Given the description of an element on the screen output the (x, y) to click on. 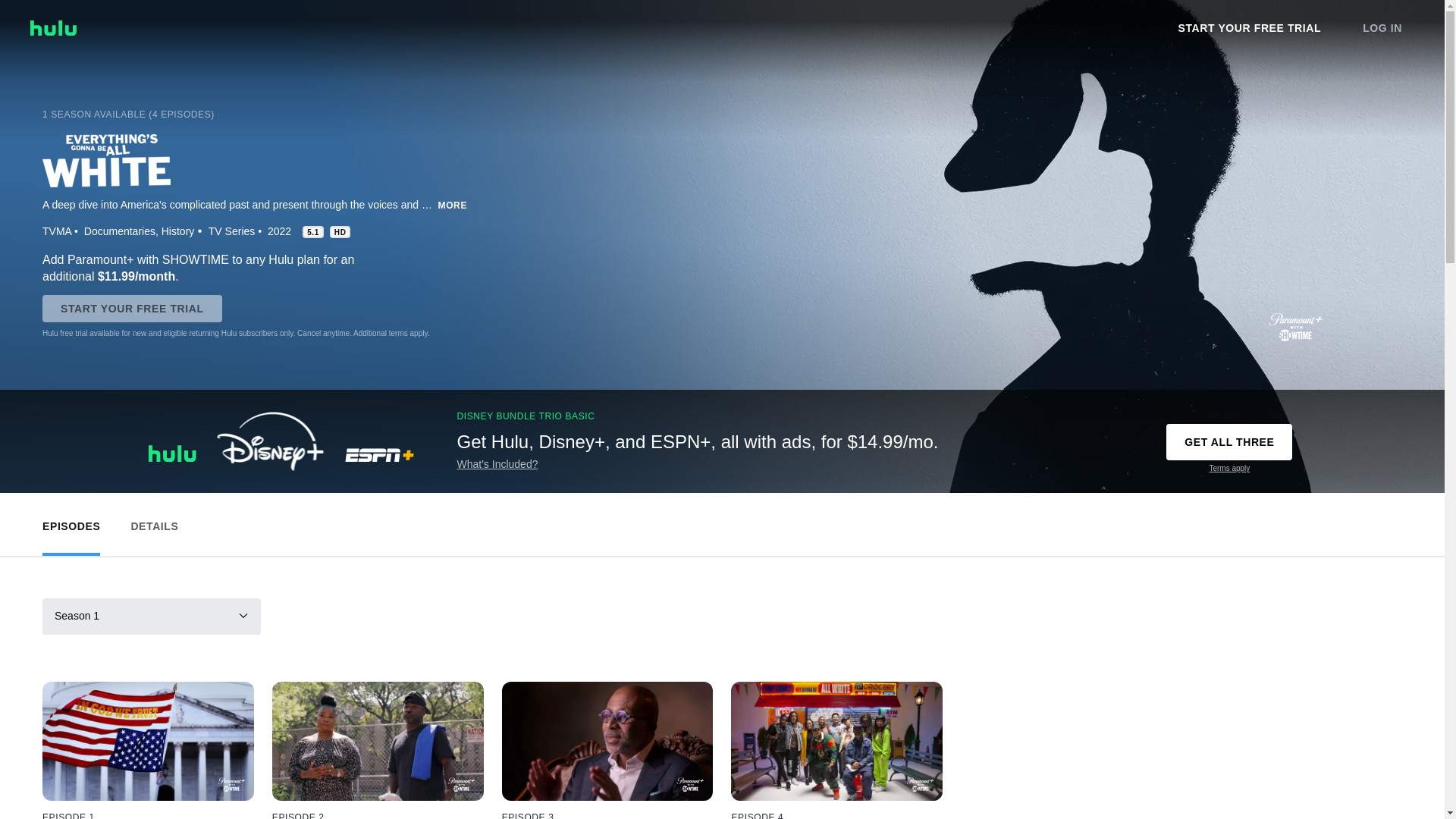
TV Series (231, 231)
EPISODES (71, 522)
Terms apply (1228, 468)
What's Included? (497, 463)
START YOUR FREE TRIAL (1249, 27)
START YOUR FREE TRIAL (132, 308)
hulu (53, 27)
Season 1 (151, 616)
GET ALL THREE (1229, 442)
LOG IN (1382, 28)
hulu (53, 27)
MORE (452, 204)
